Given the description of an element on the screen output the (x, y) to click on. 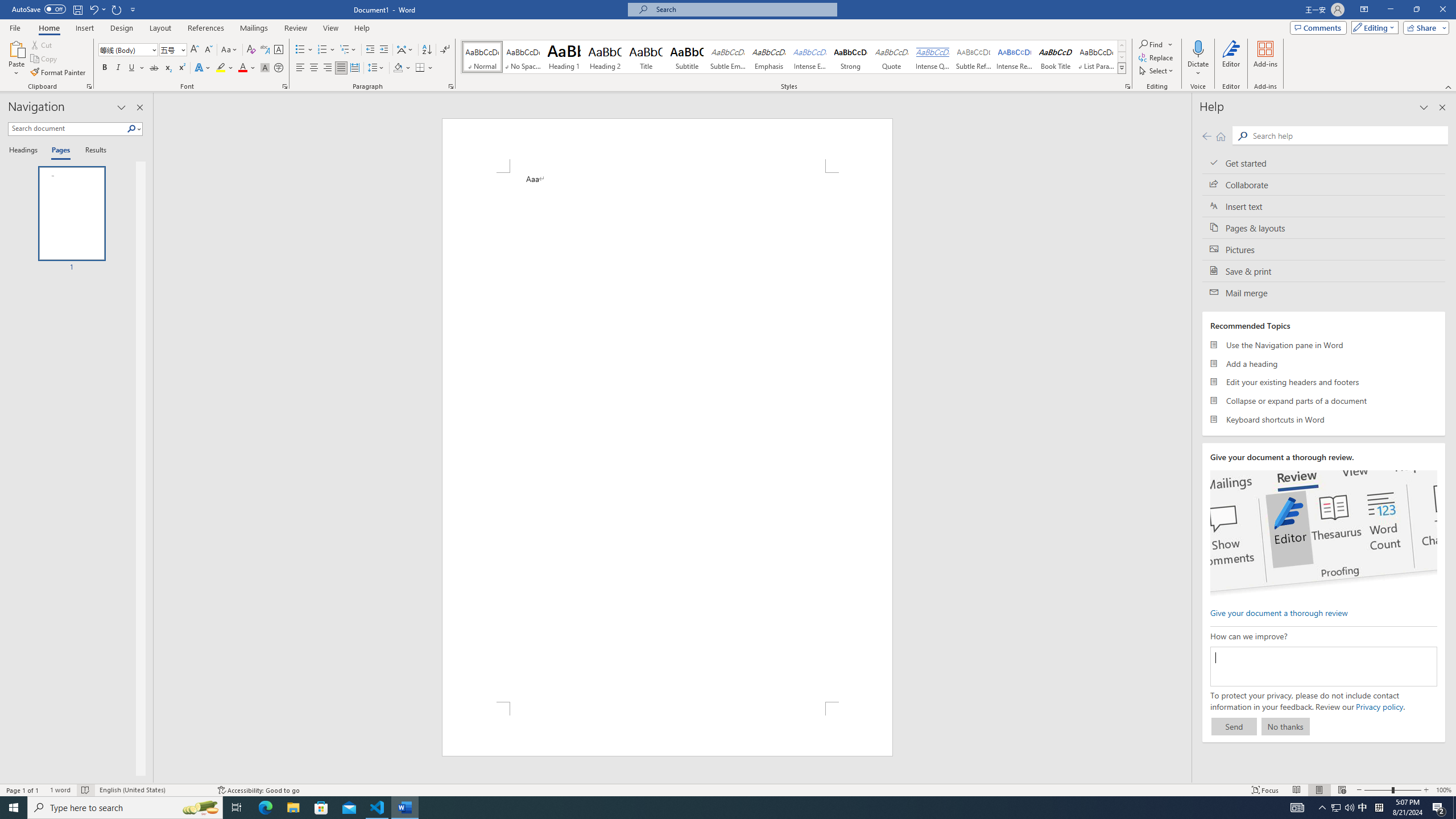
Edit your existing headers and footers (1323, 381)
Zoom 100% (1443, 790)
Strong (849, 56)
Grow Font (193, 49)
Undo Increase Indent (96, 9)
Mode (1372, 27)
Find (1155, 44)
Ribbon Display Options (1364, 9)
Insert text (1323, 206)
Subscript (167, 67)
Page 1 content (667, 436)
Home (48, 28)
Shading (402, 67)
Keyboard shortcuts in Word (1323, 419)
